Given the description of an element on the screen output the (x, y) to click on. 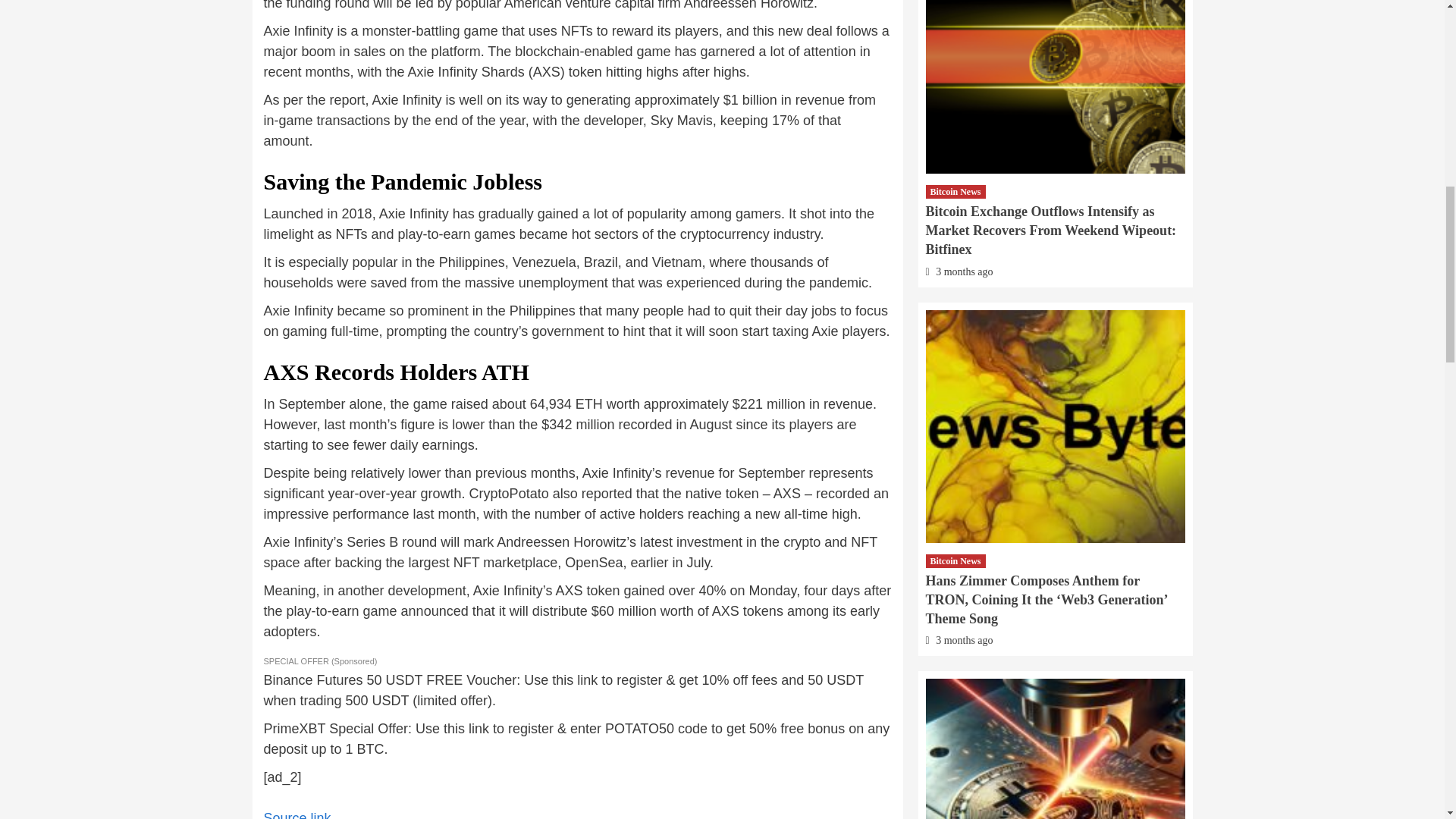
Source link (297, 814)
